Given the description of an element on the screen output the (x, y) to click on. 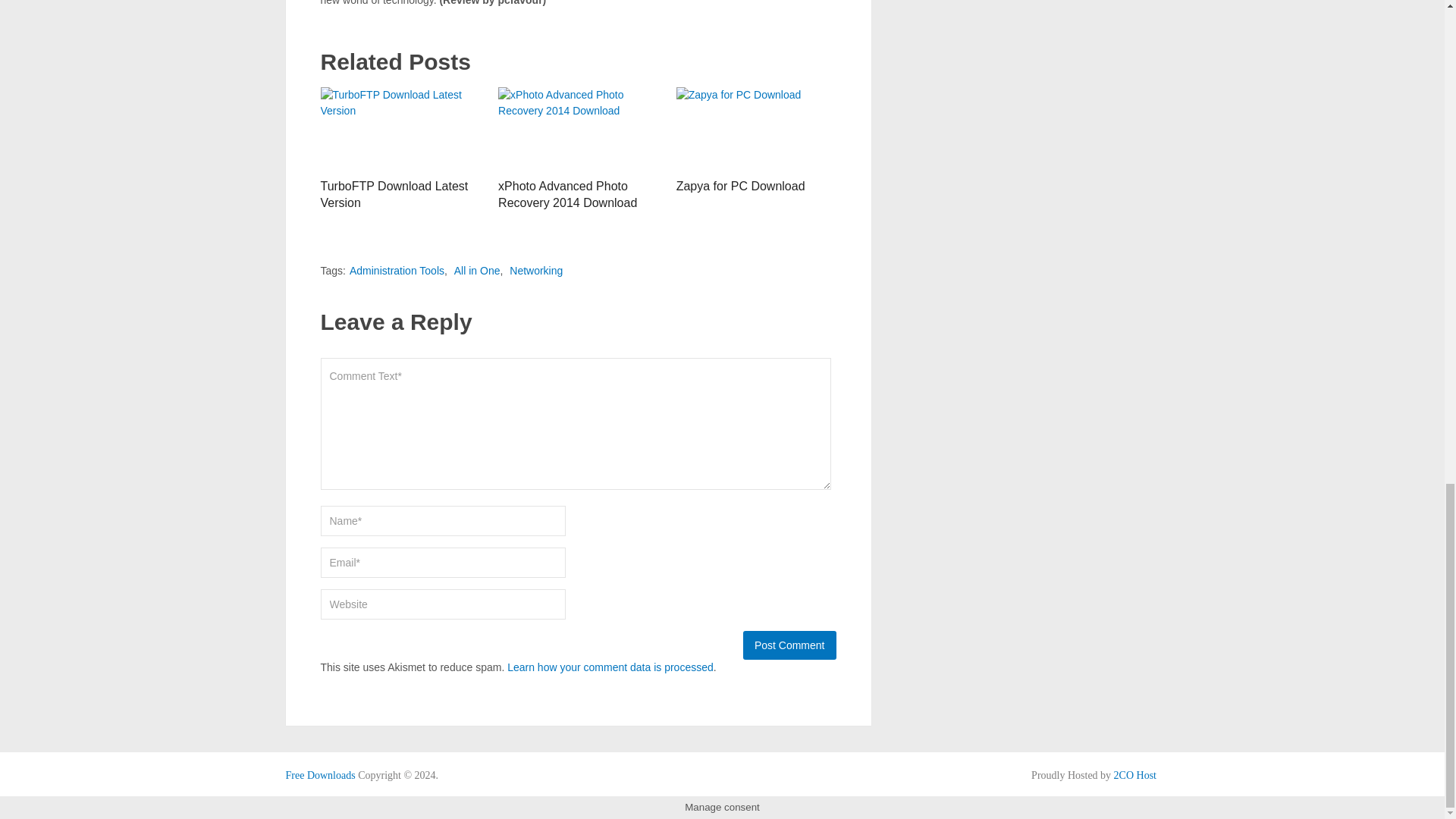
TurboFTP Download Latest Version (393, 194)
Zapya for PC Download (756, 128)
Zapya for PC Download (741, 185)
xPhoto Advanced Photo Recovery 2014 Download (567, 194)
TurboFTP Download Latest Version (393, 194)
TurboFTP Download Latest Version (400, 128)
Post Comment (788, 645)
xPhoto Advanced Photo Recovery 2014 Download (577, 128)
